Given the description of an element on the screen output the (x, y) to click on. 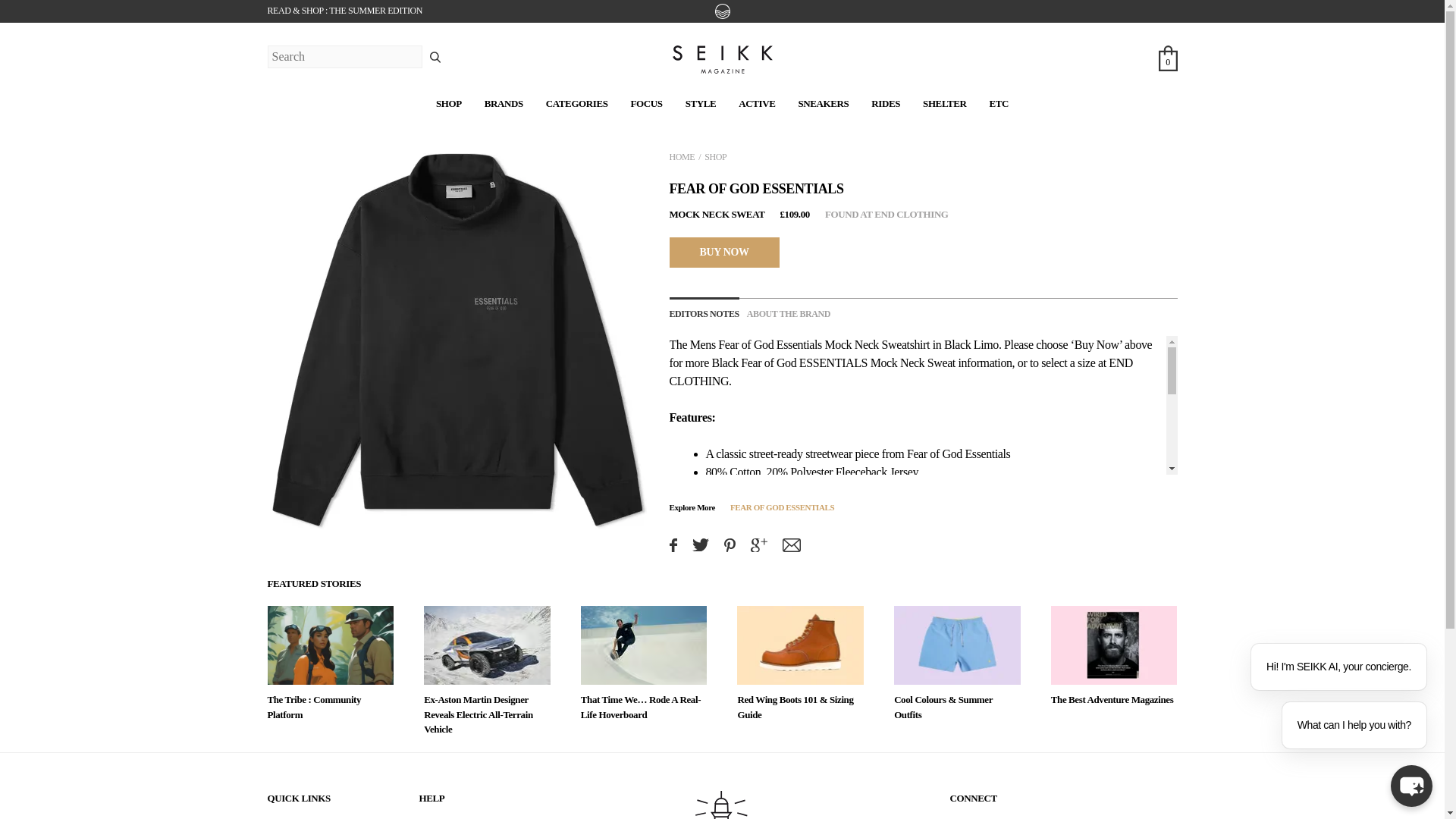
BUY NOW (723, 251)
SNEAKERS (822, 102)
FOCUS (646, 102)
FEAR OF GOD ESSENTIALS (782, 506)
RIDES (884, 102)
ETC (998, 102)
SHOP (448, 102)
CATEGORIES (577, 102)
BRANDS (503, 102)
SHOP (715, 156)
SHELTER (944, 102)
ACTIVE (756, 102)
STYLE (700, 102)
Fear of God Essentials (769, 344)
FEAR OF GOD ESSENTIALS (755, 188)
